Given the description of an element on the screen output the (x, y) to click on. 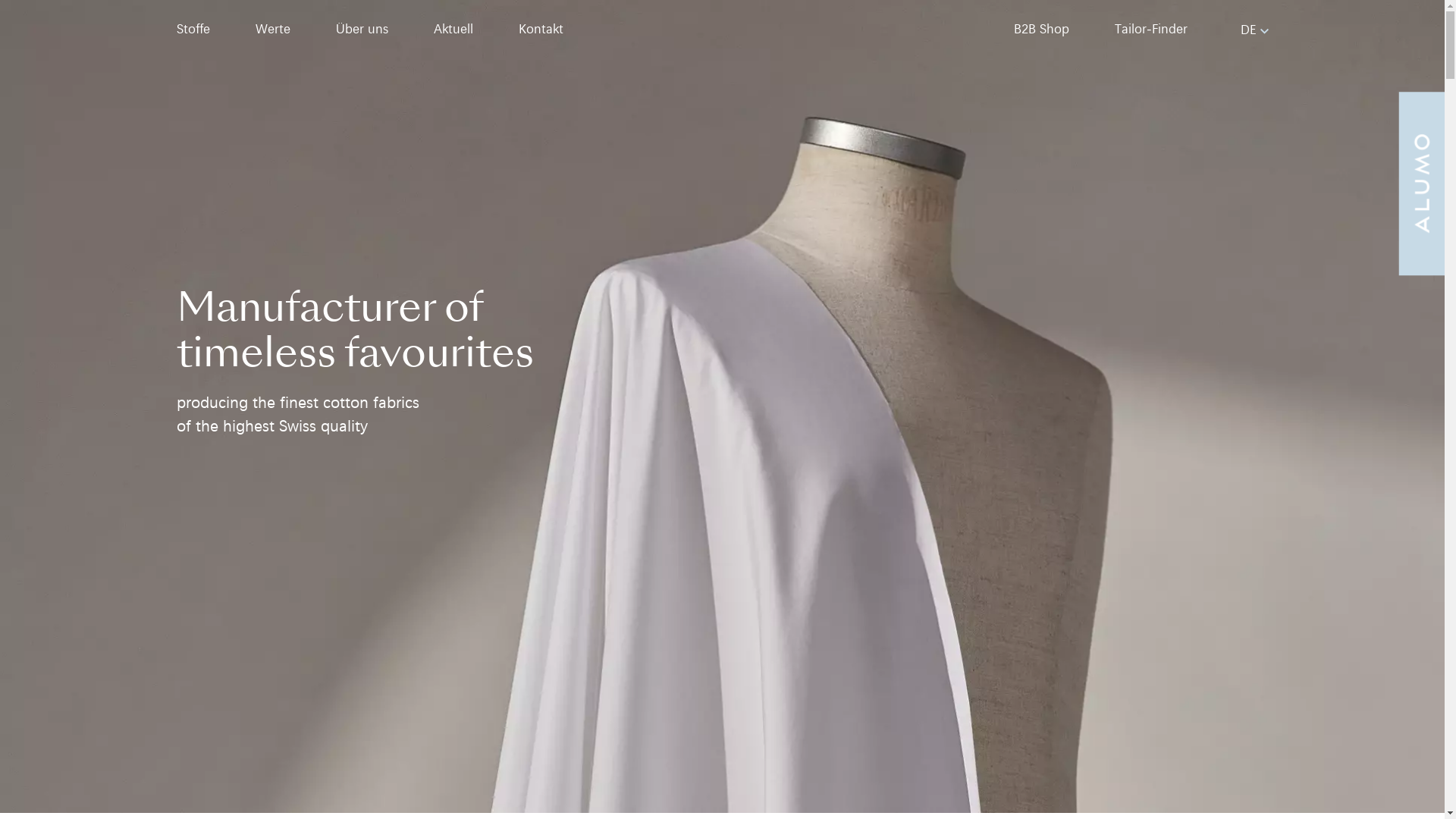
ALUMO Element type: hover (722, 406)
B2B Shop Element type: text (1040, 28)
DE Element type: text (1254, 28)
Werte Element type: text (271, 28)
Aktuell Element type: text (453, 28)
Kontakt Element type: text (540, 28)
Tailor-Finder Element type: text (1150, 28)
Stoffe Element type: text (192, 28)
